Given the description of an element on the screen output the (x, y) to click on. 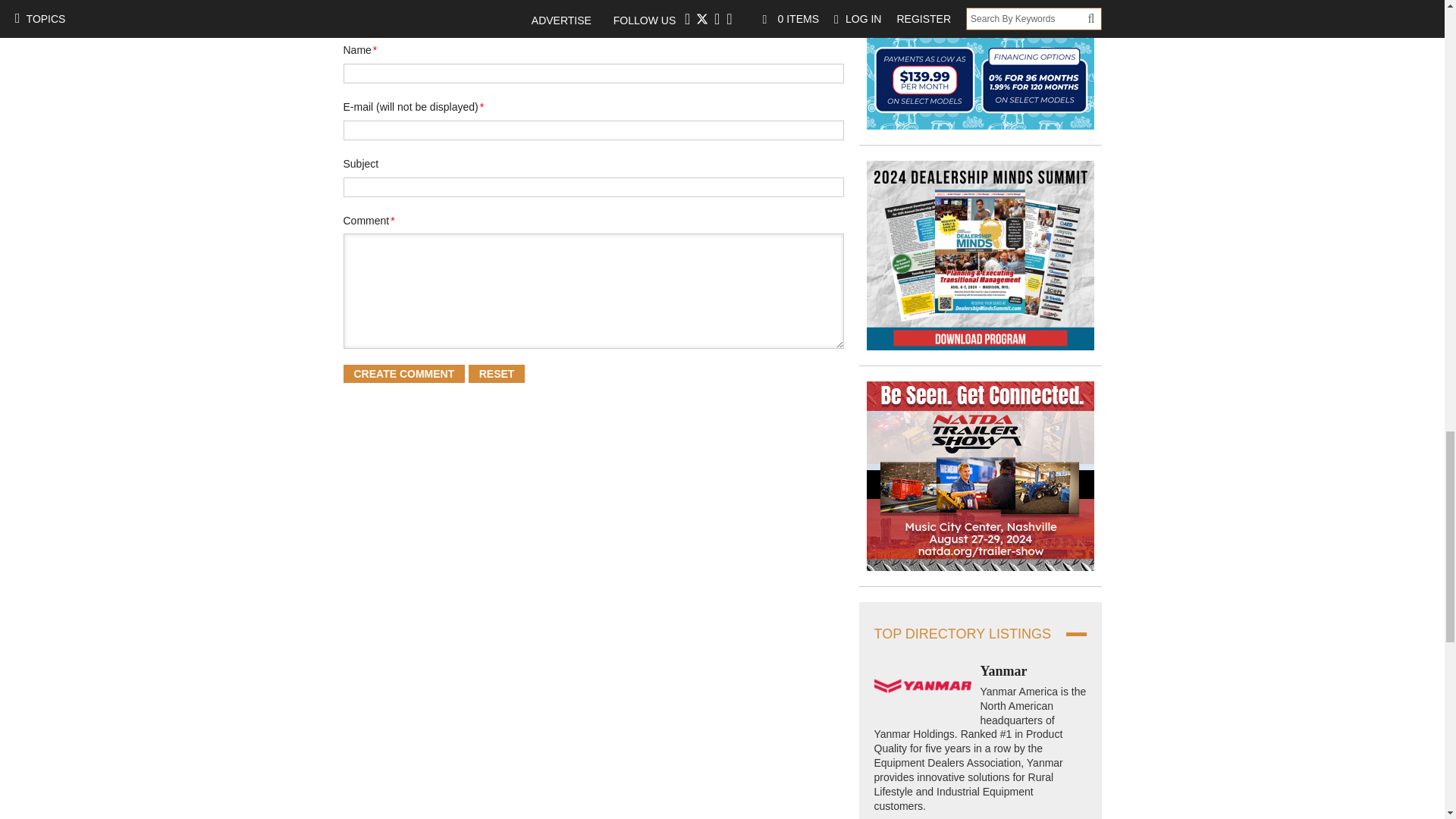
Reset (496, 373)
Create Comment (403, 373)
